Given the description of an element on the screen output the (x, y) to click on. 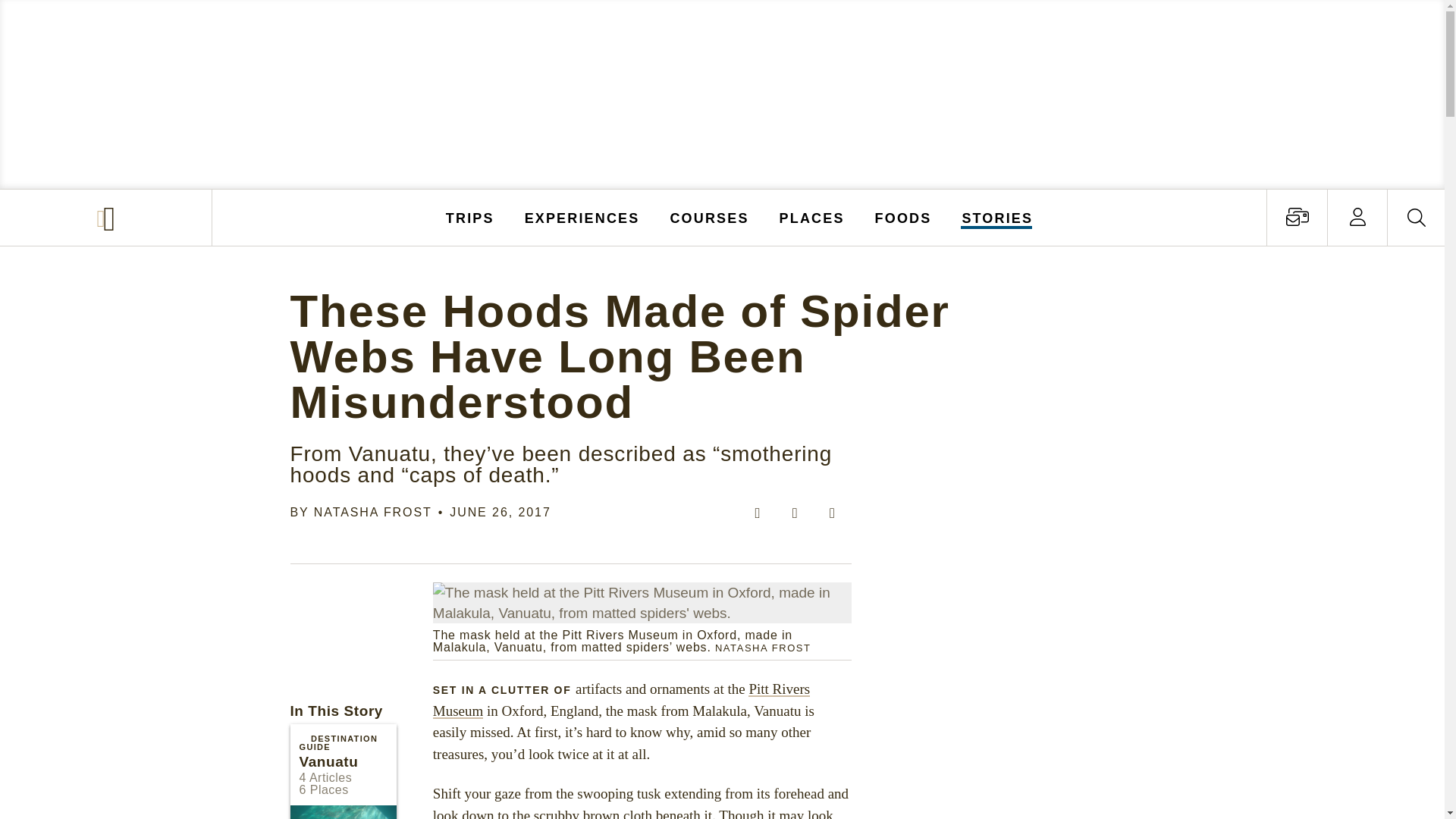
EXPERIENCES (582, 217)
COURSES (707, 217)
PLACES (812, 217)
TRIPS (469, 217)
